Given the description of an element on the screen output the (x, y) to click on. 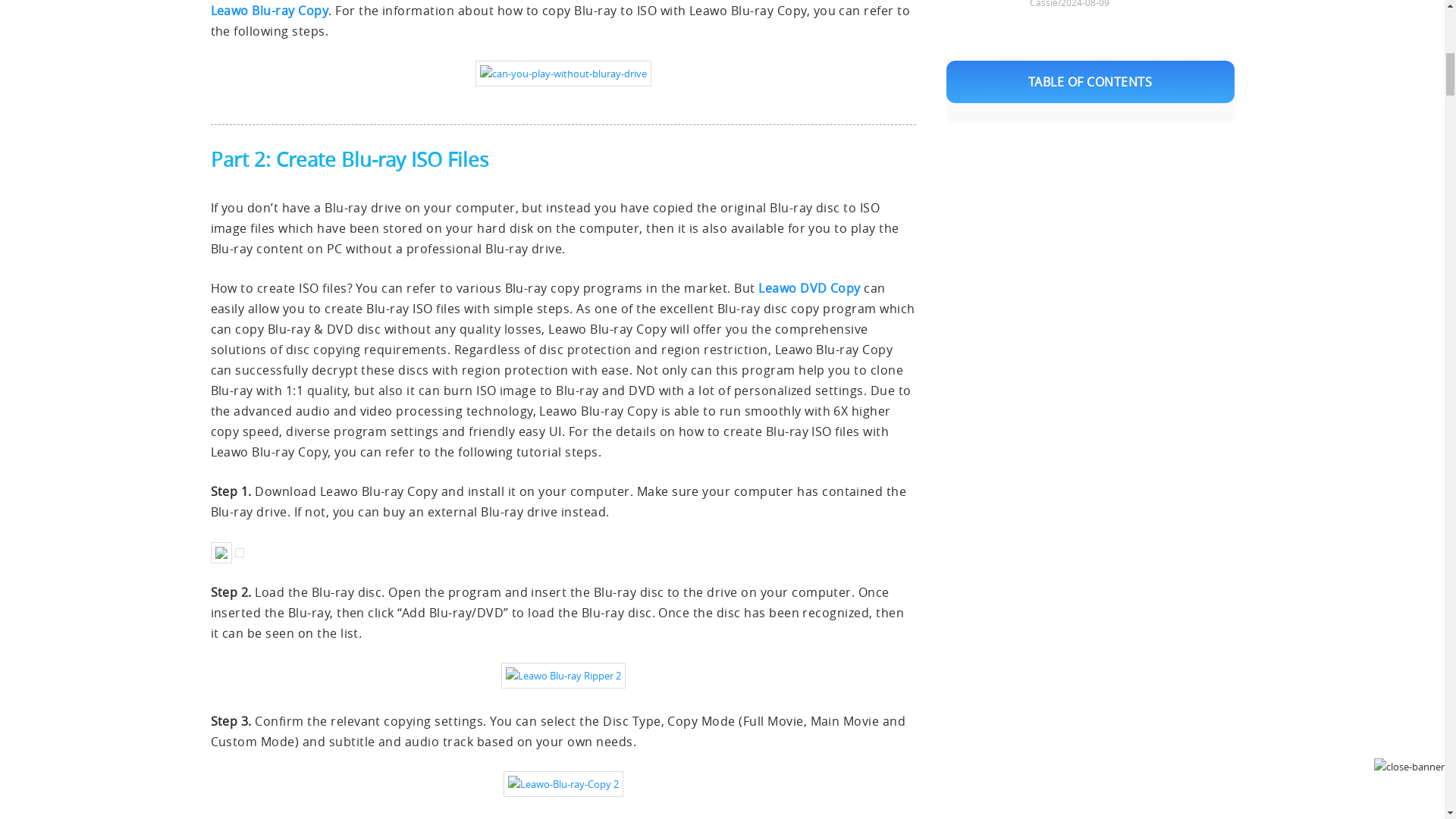
Leawo DVD Copy (809, 288)
Leawo Blu-ray Copy (270, 10)
Leawo DVD Copy (809, 288)
